Given the description of an element on the screen output the (x, y) to click on. 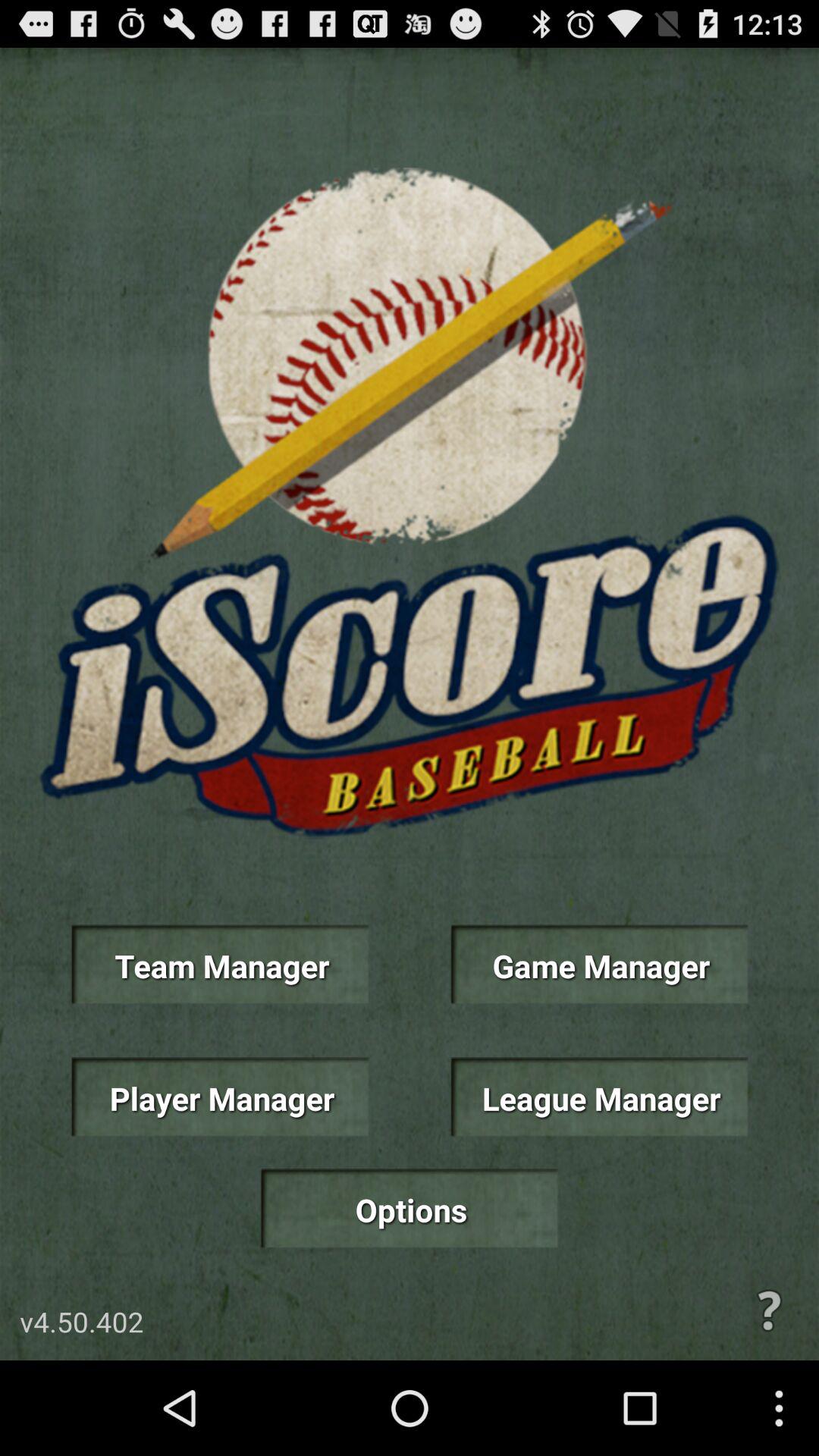
press the item at the bottom (408, 1208)
